Given the description of an element on the screen output the (x, y) to click on. 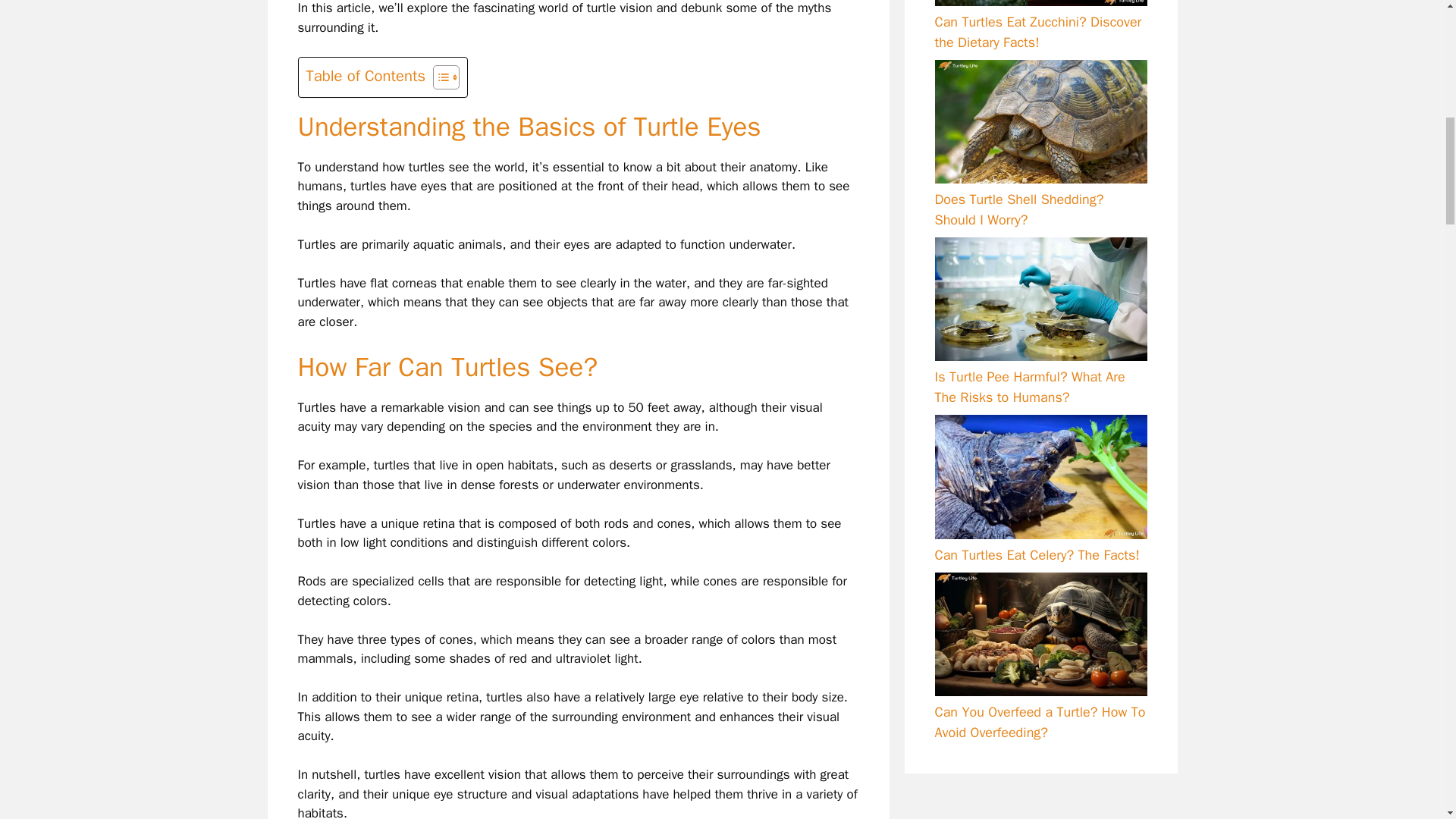
Can Turtles Eat Zucchini? Discover the Dietary Facts! (1037, 31)
